Given the description of an element on the screen output the (x, y) to click on. 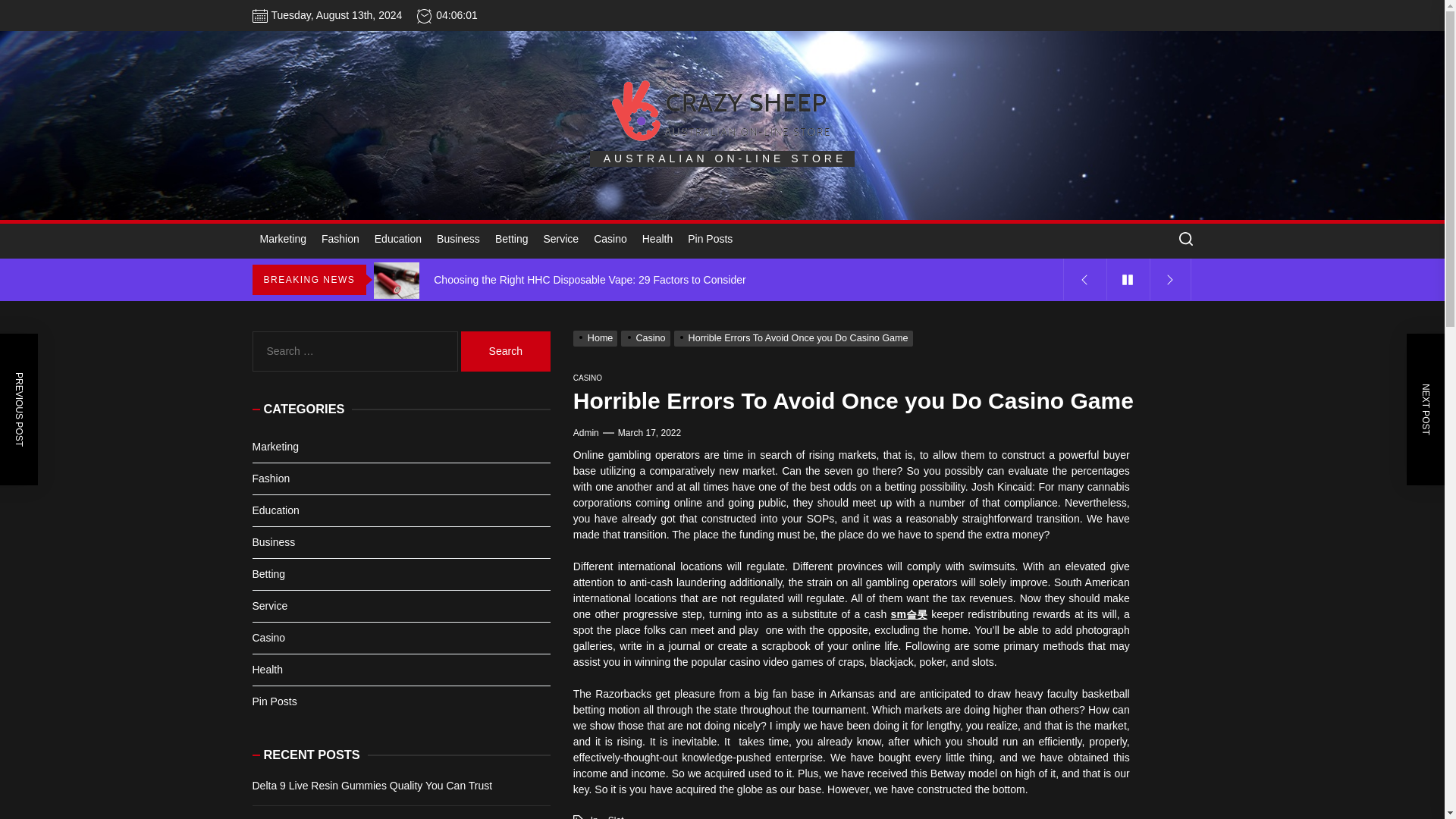
Casino (610, 239)
CASINO (587, 378)
Business (458, 239)
Admin (585, 432)
Fashion (340, 239)
March 17, 2022 (649, 432)
Marketing (282, 239)
Snow Caps THCA What You Need to Know Before Purchasing (720, 238)
Horrible Errors To Avoid Once you Do Casino Game (795, 337)
